Given the description of an element on the screen output the (x, y) to click on. 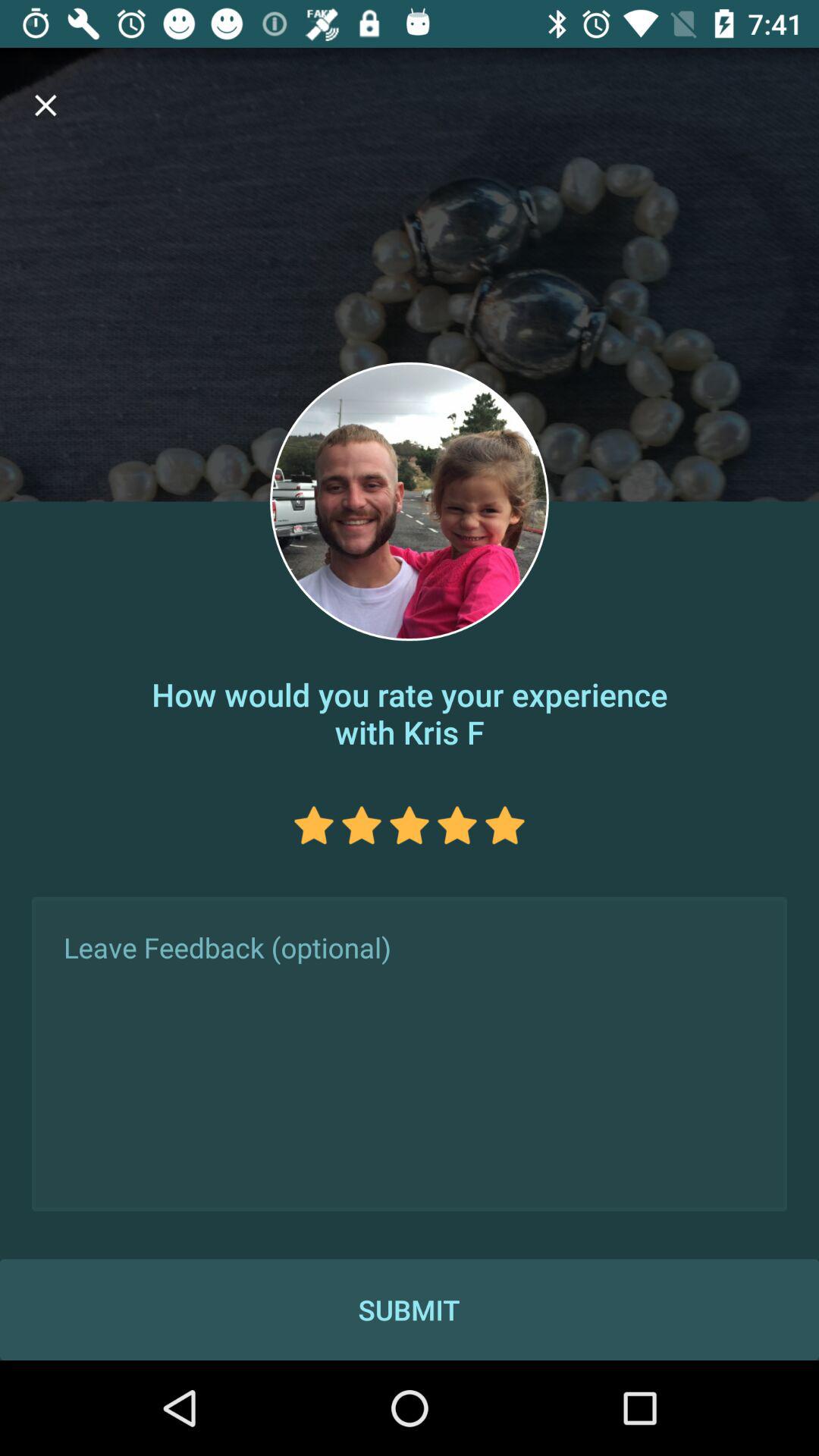
rate your experience (409, 825)
